Given the description of an element on the screen output the (x, y) to click on. 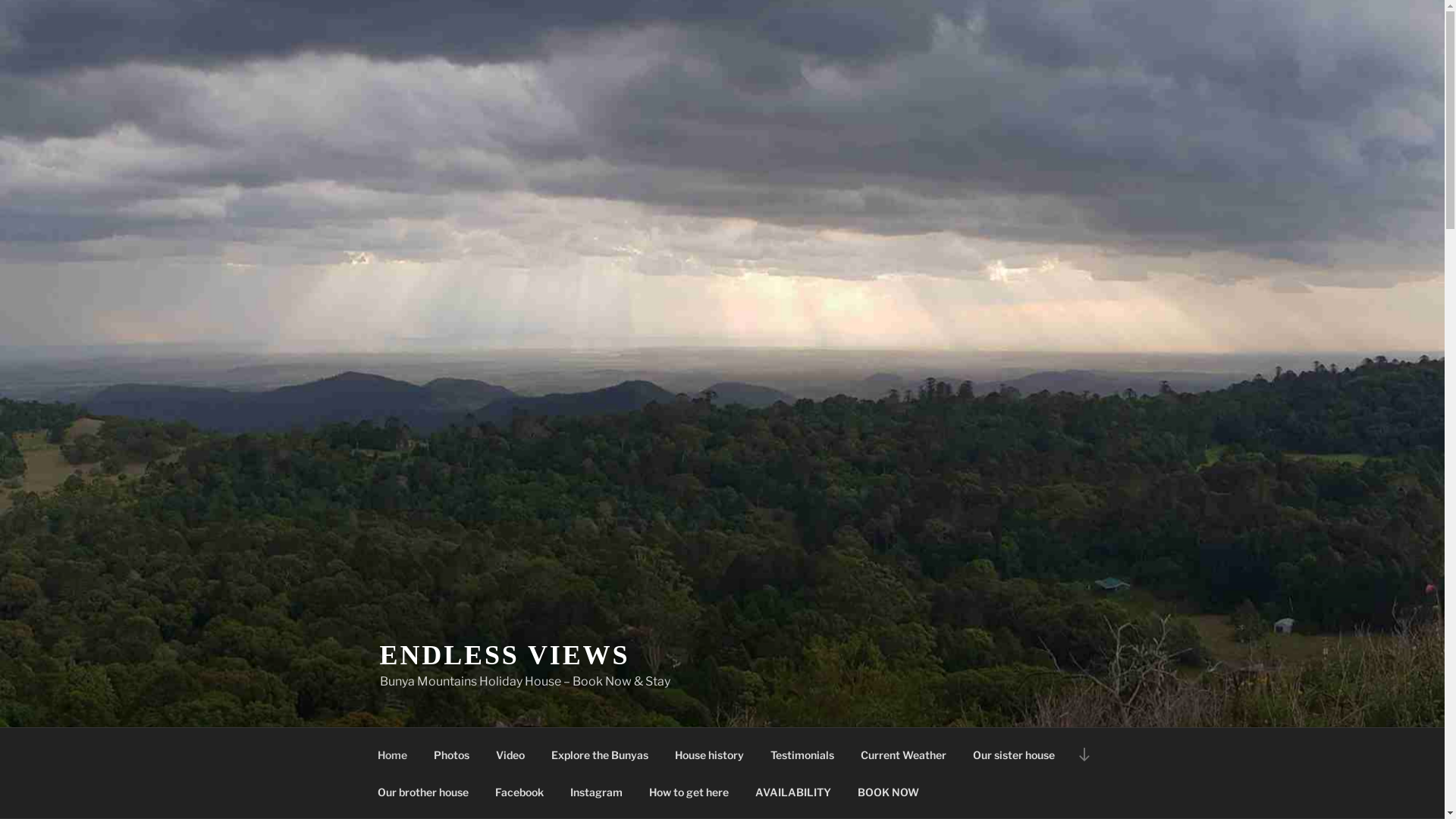
Instagram Element type: text (595, 791)
Our sister house Element type: text (1014, 753)
House history Element type: text (708, 753)
AVAILABILITY Element type: text (792, 791)
Explore the Bunyas Element type: text (600, 753)
Scroll down to content Element type: text (1083, 753)
How to get here Element type: text (688, 791)
BOOK NOW Element type: text (888, 791)
Current Weather Element type: text (903, 753)
Home Element type: text (392, 753)
ENDLESS VIEWS Element type: text (504, 655)
Our brother house Element type: text (422, 791)
Video Element type: text (509, 753)
Photos Element type: text (451, 753)
Facebook Element type: text (519, 791)
Testimonials Element type: text (801, 753)
